Given the description of an element on the screen output the (x, y) to click on. 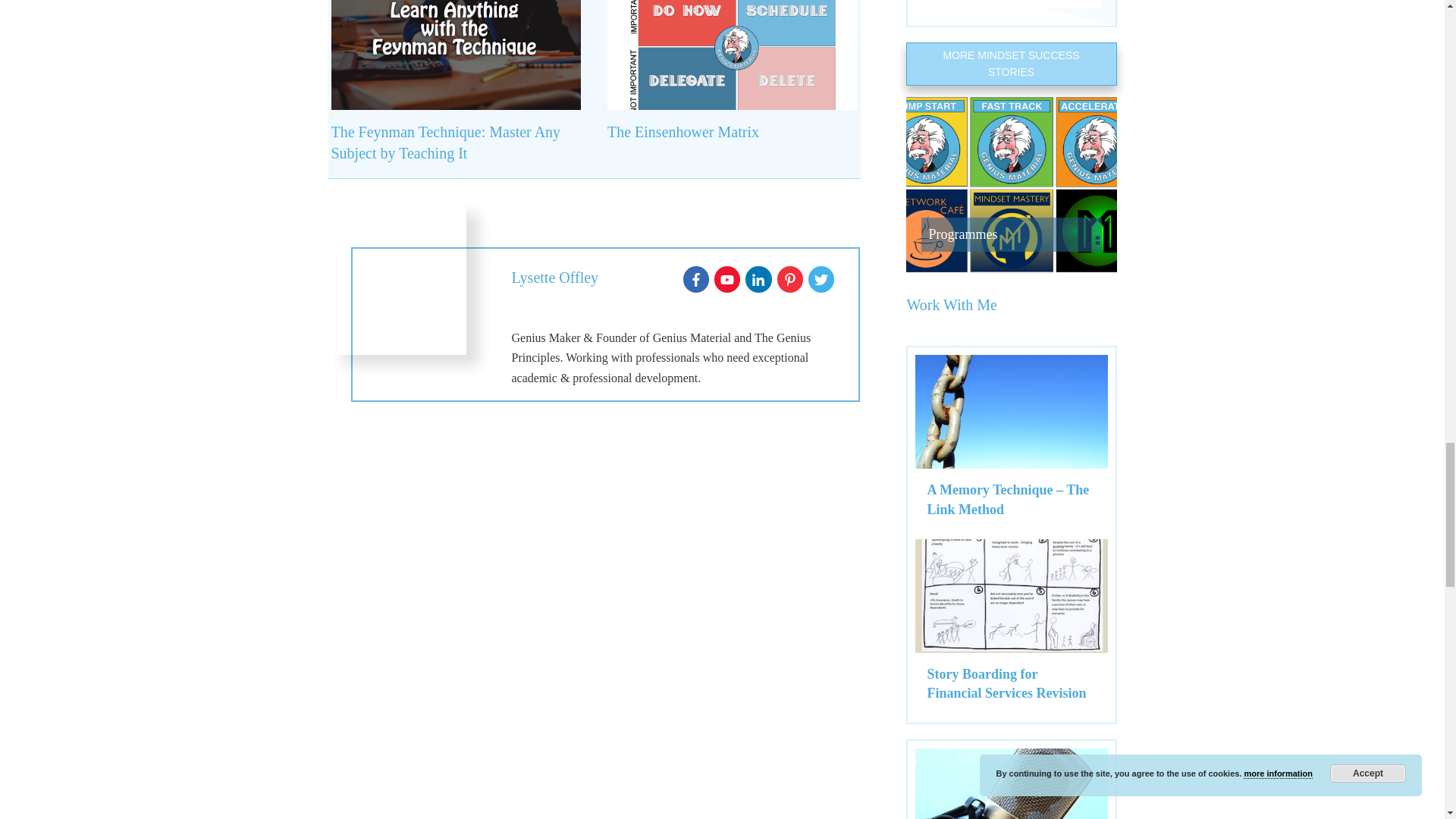
Story Boarding for Financial Services Revision (1006, 683)
The Feynman Technique: Master Any Subject by Teaching It (445, 142)
The Einsenhower Matrix (682, 131)
